Given the description of an element on the screen output the (x, y) to click on. 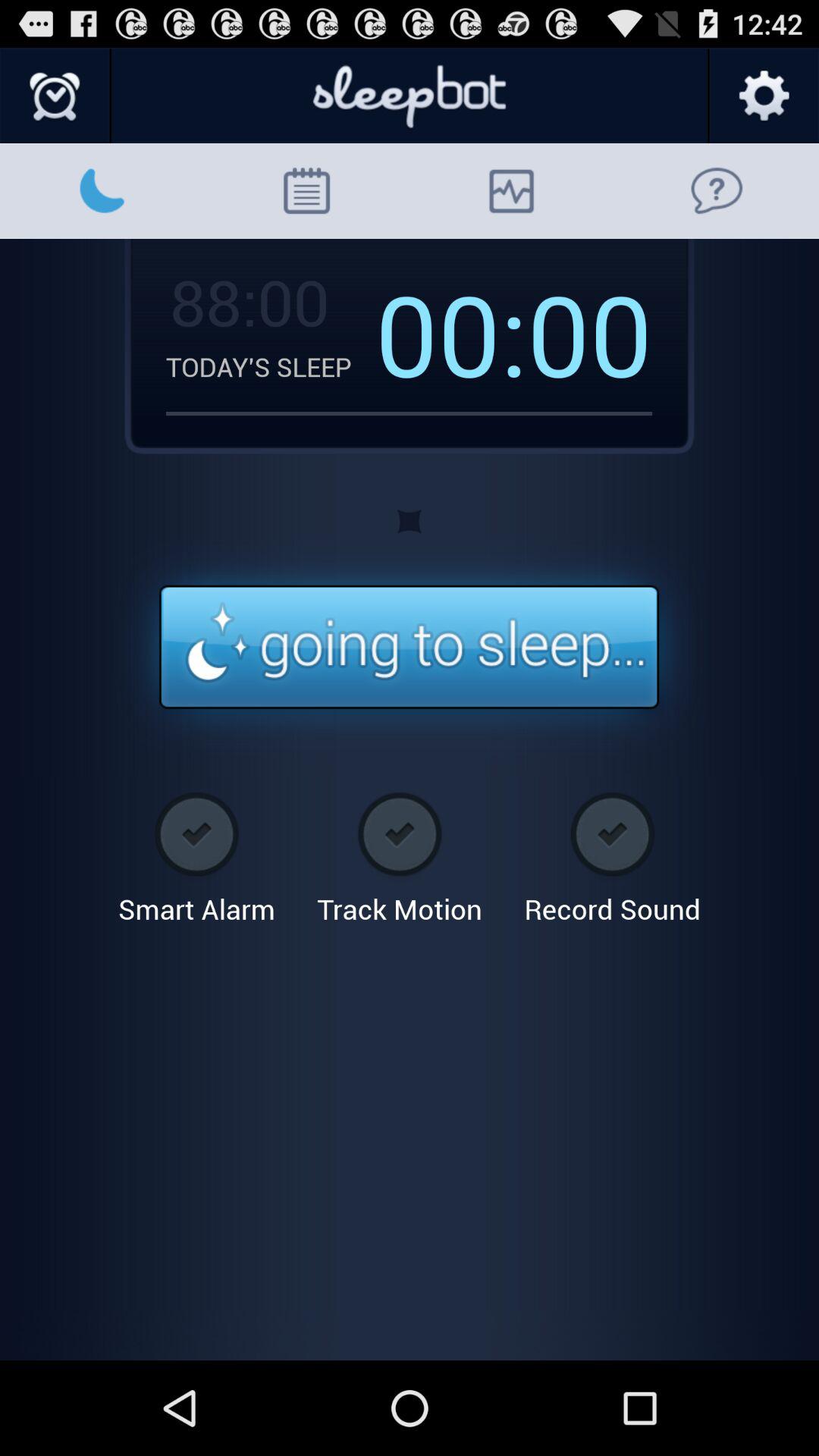
launch app below the 88:00 (270, 366)
